Given the description of an element on the screen output the (x, y) to click on. 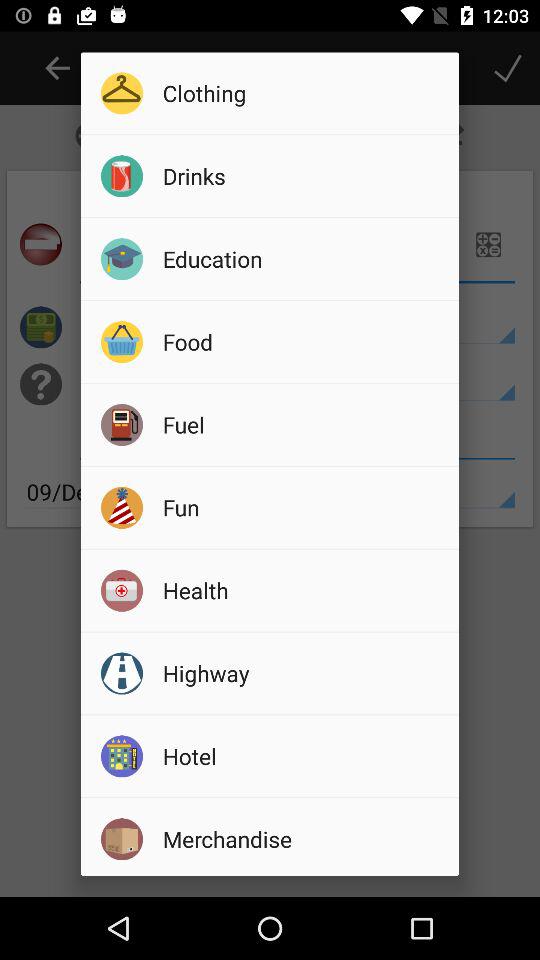
tap icon below the fuel item (303, 507)
